Given the description of an element on the screen output the (x, y) to click on. 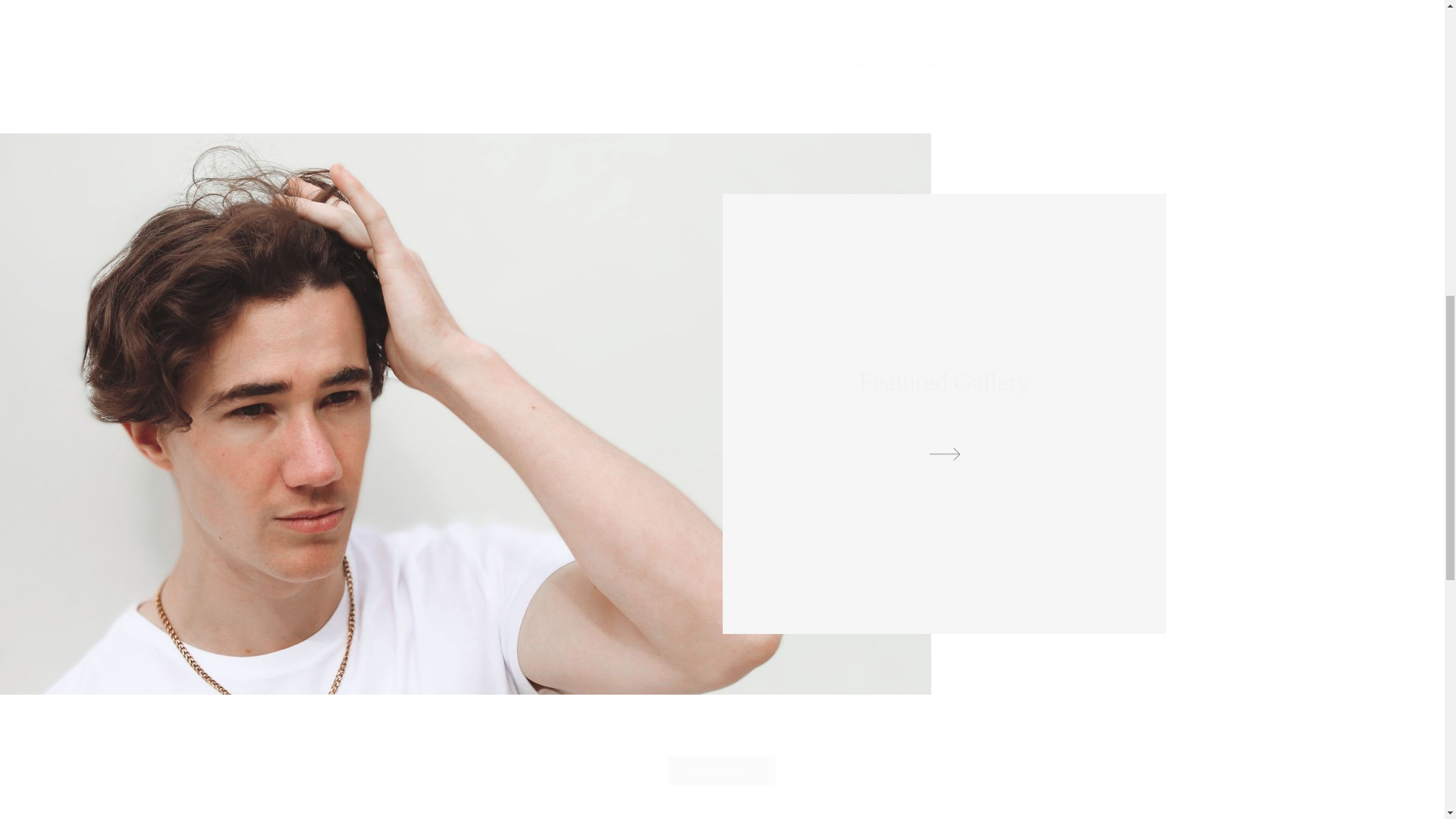
SEE MORE... (722, 769)
